Given the description of an element on the screen output the (x, y) to click on. 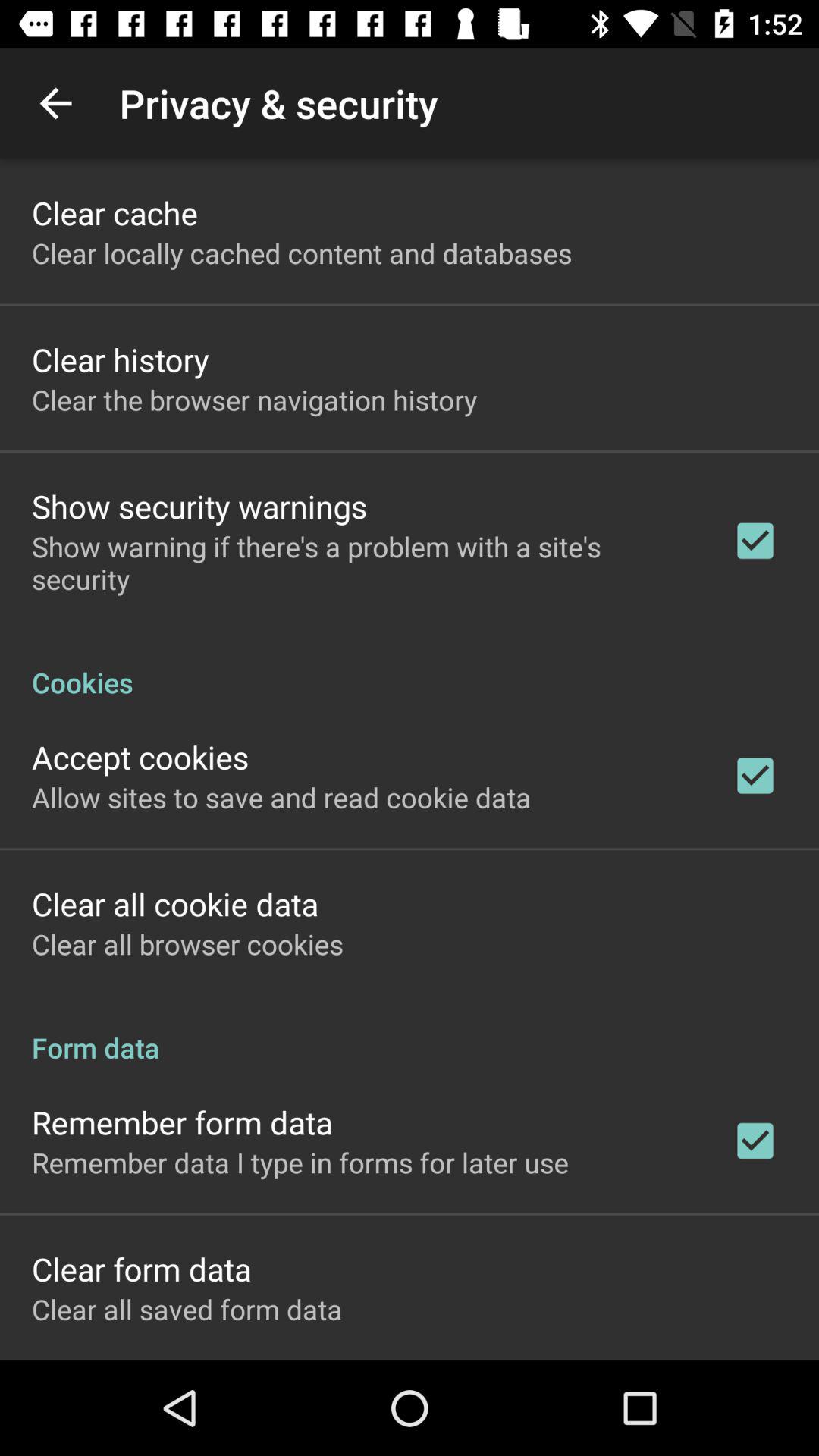
open the icon next to privacy & security app (55, 103)
